Given the description of an element on the screen output the (x, y) to click on. 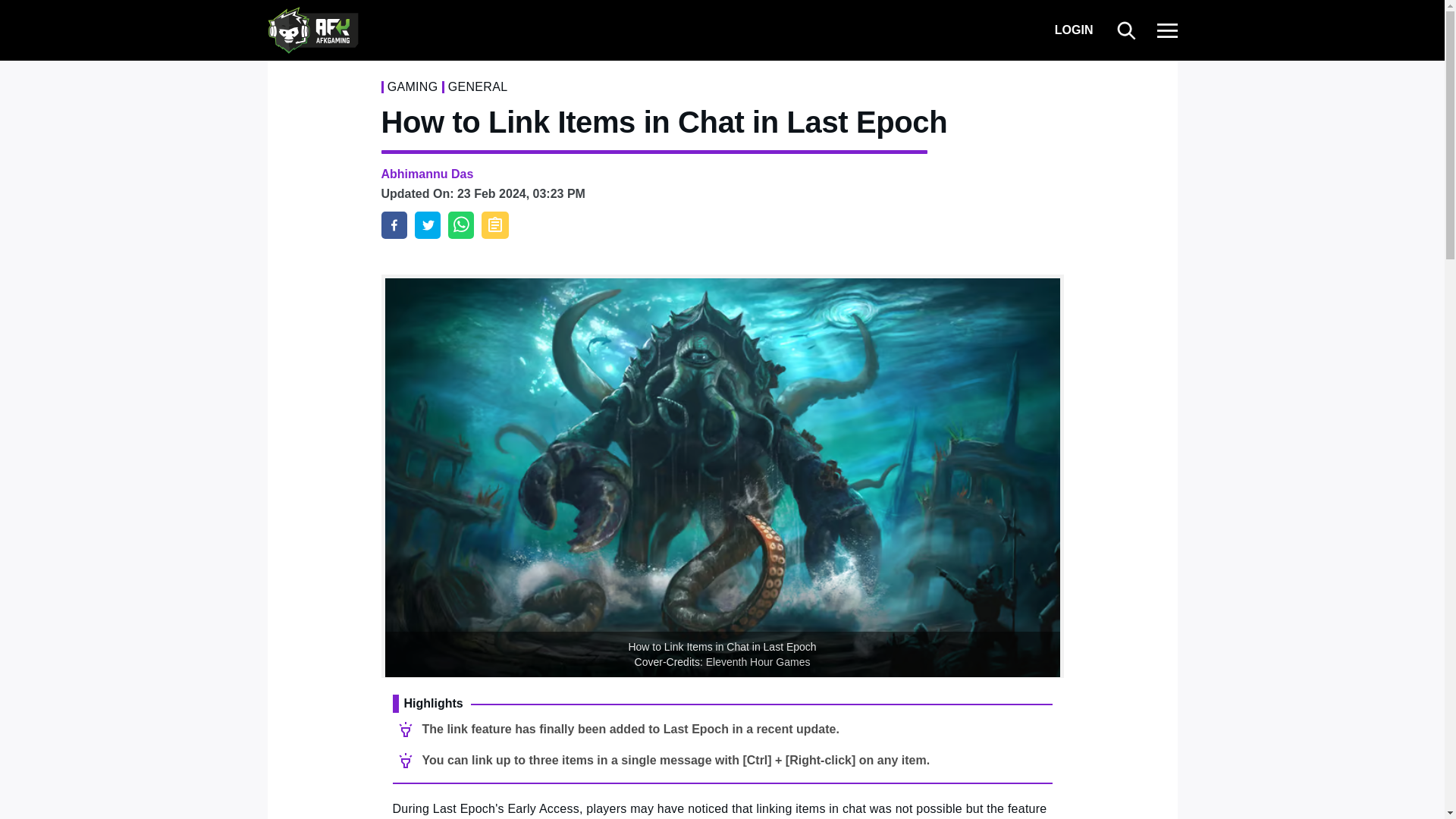
How to Link Items in Chat in Last Epoch (393, 225)
Abhimannu Das (426, 173)
GAMING (412, 87)
GENERAL (478, 87)
